Given the description of an element on the screen output the (x, y) to click on. 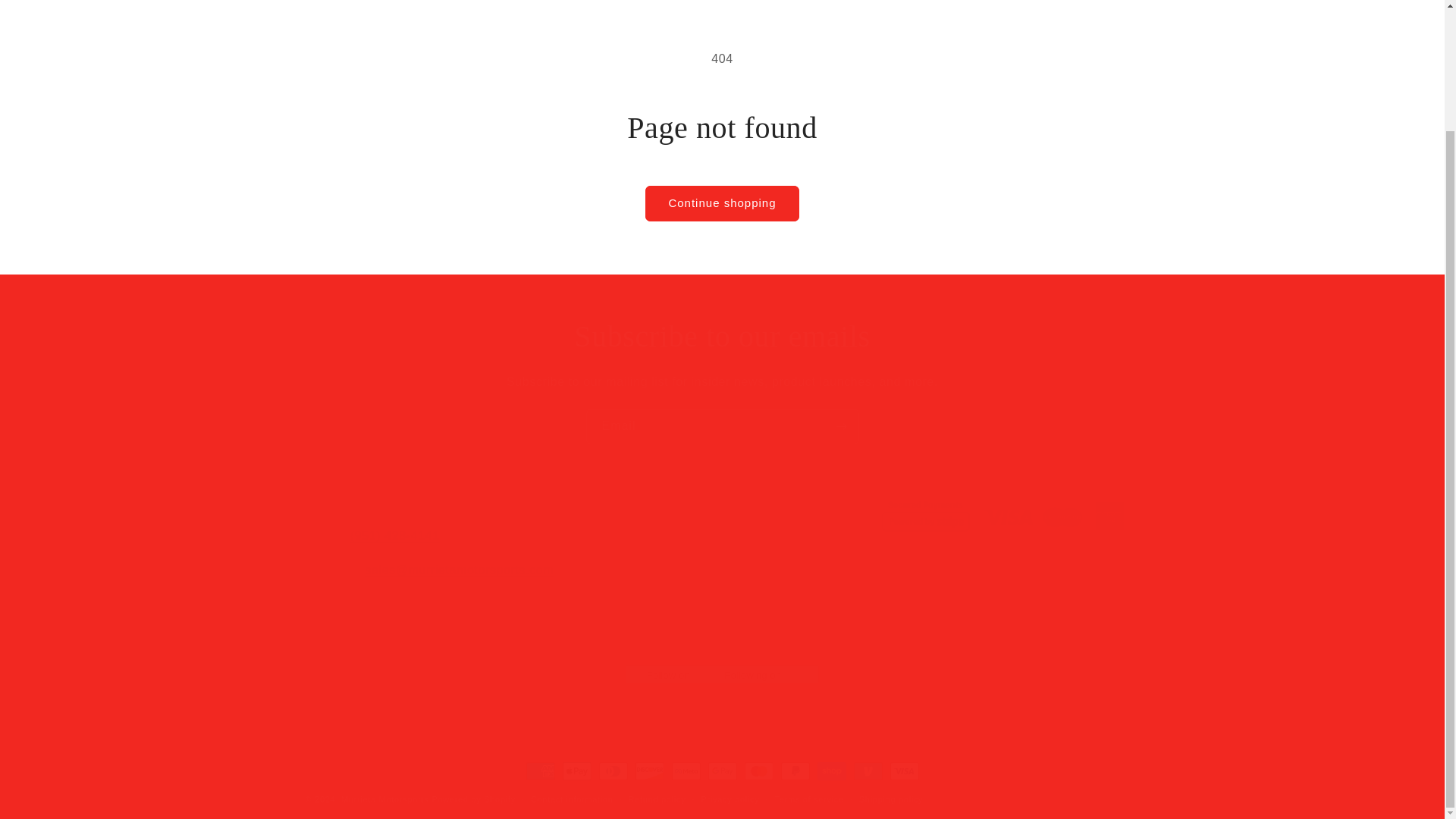
Call 951-428-4141 (722, 574)
Subscribe to our emails (394, 535)
Email (721, 336)
